Given the description of an element on the screen output the (x, y) to click on. 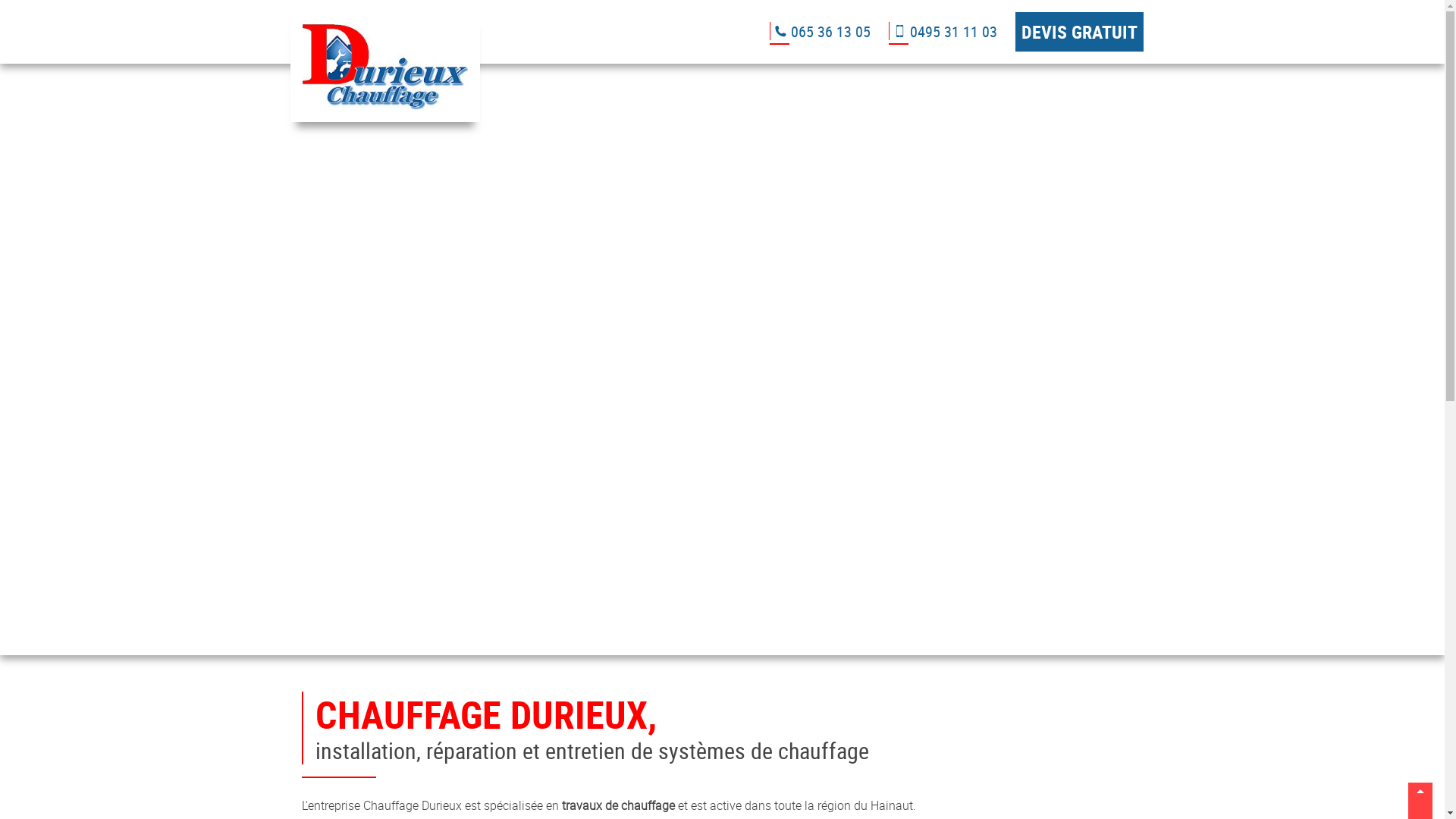
DEVIS GRATUIT Element type: text (1078, 31)
0495 31 11 03 Element type: text (942, 31)
065 36 13 05 Element type: text (818, 31)
